Given the description of an element on the screen output the (x, y) to click on. 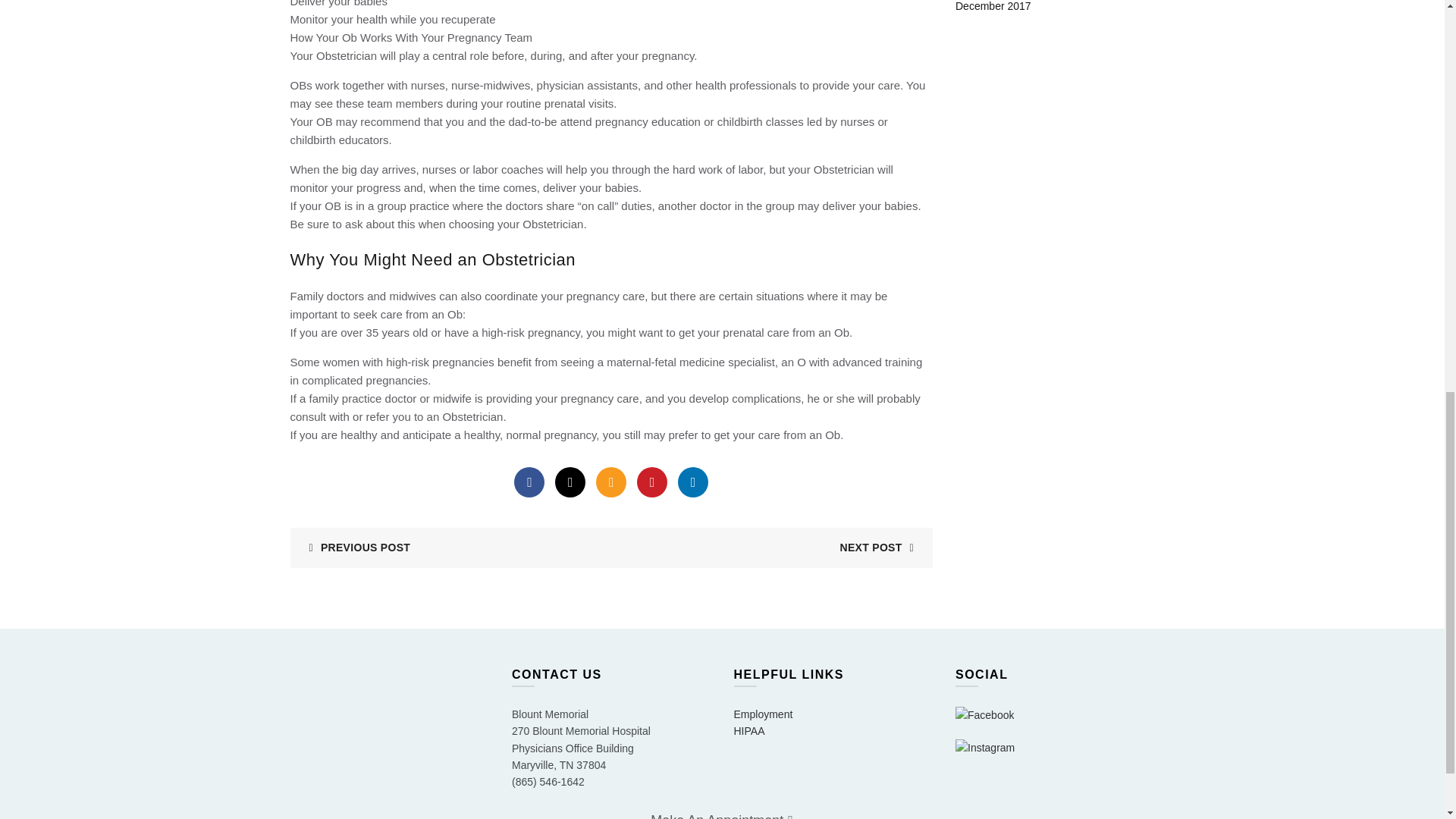
LinkedIn (692, 481)
Facebook (528, 481)
Email (610, 481)
NEXT POST (882, 547)
Pinterest (651, 481)
X (569, 481)
PREVIOUS POST (353, 547)
